Given the description of an element on the screen output the (x, y) to click on. 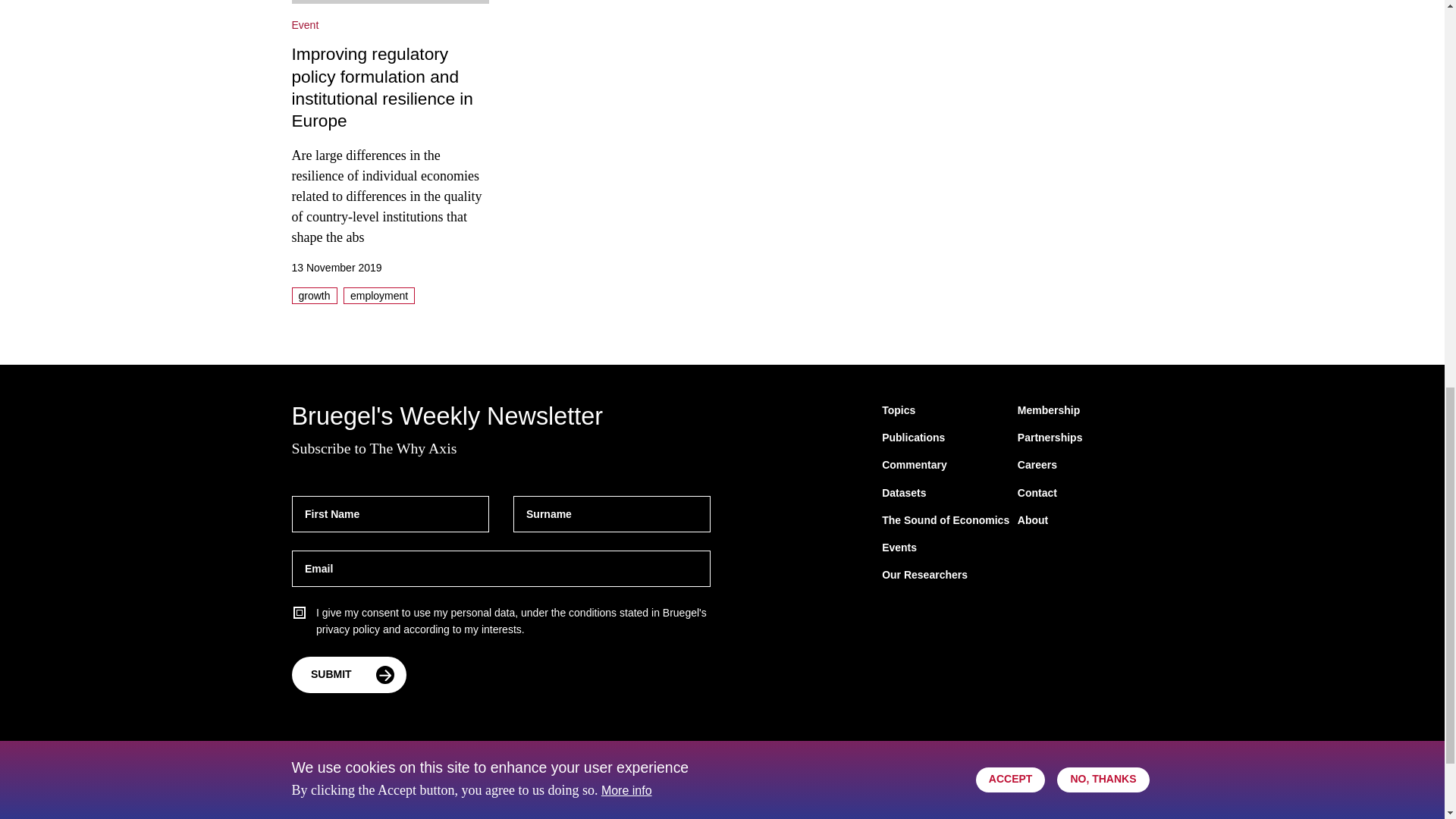
Topics (898, 410)
